Given the description of an element on the screen output the (x, y) to click on. 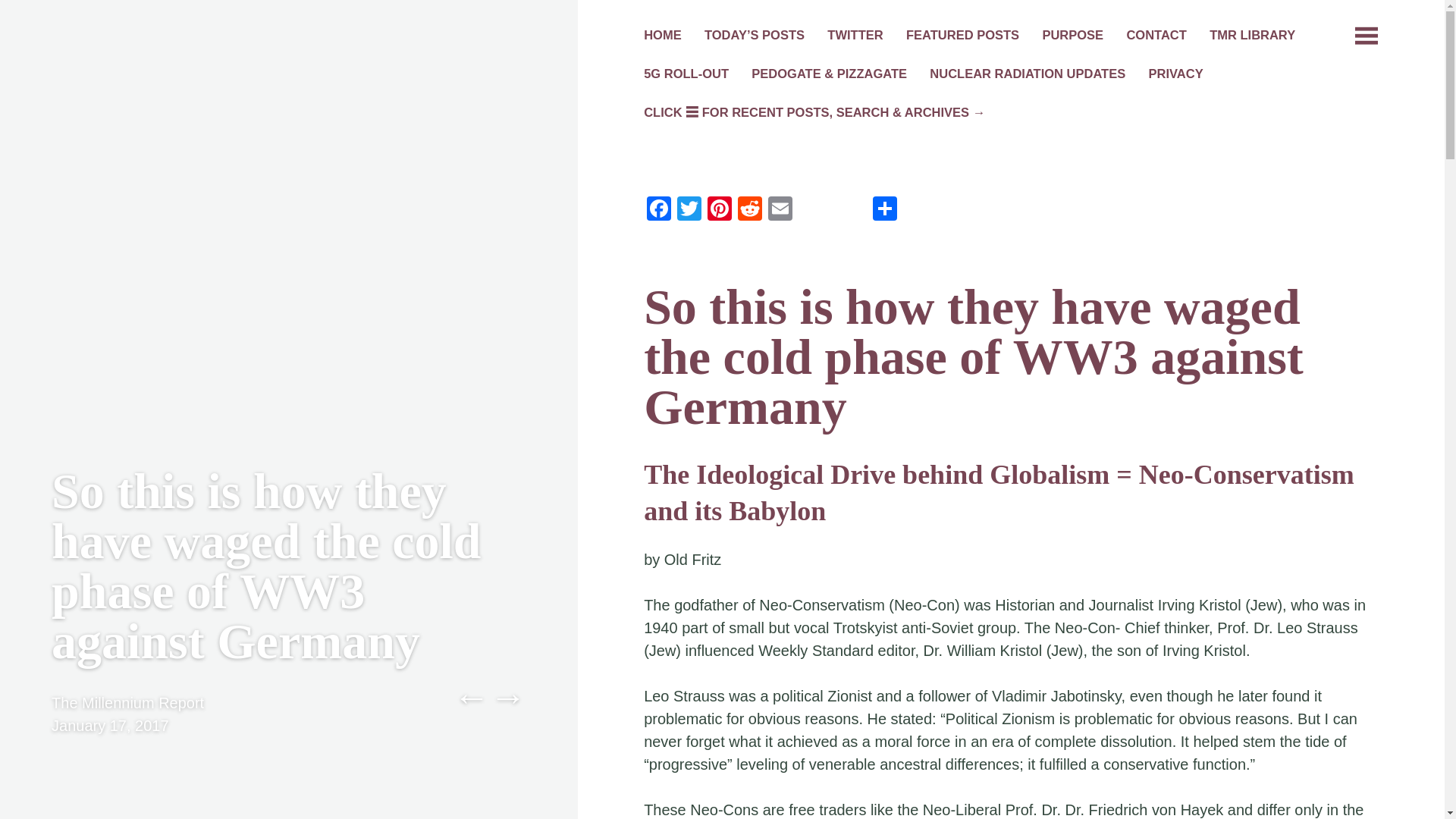
5:58 am (109, 725)
Twitter (689, 210)
Pinterest (719, 210)
Facebook (658, 210)
The Millennium Report (126, 702)
Reddit (750, 210)
Email (779, 210)
January 17, 2017 (109, 725)
View all posts by The Millennium Report (126, 702)
